Given the description of an element on the screen output the (x, y) to click on. 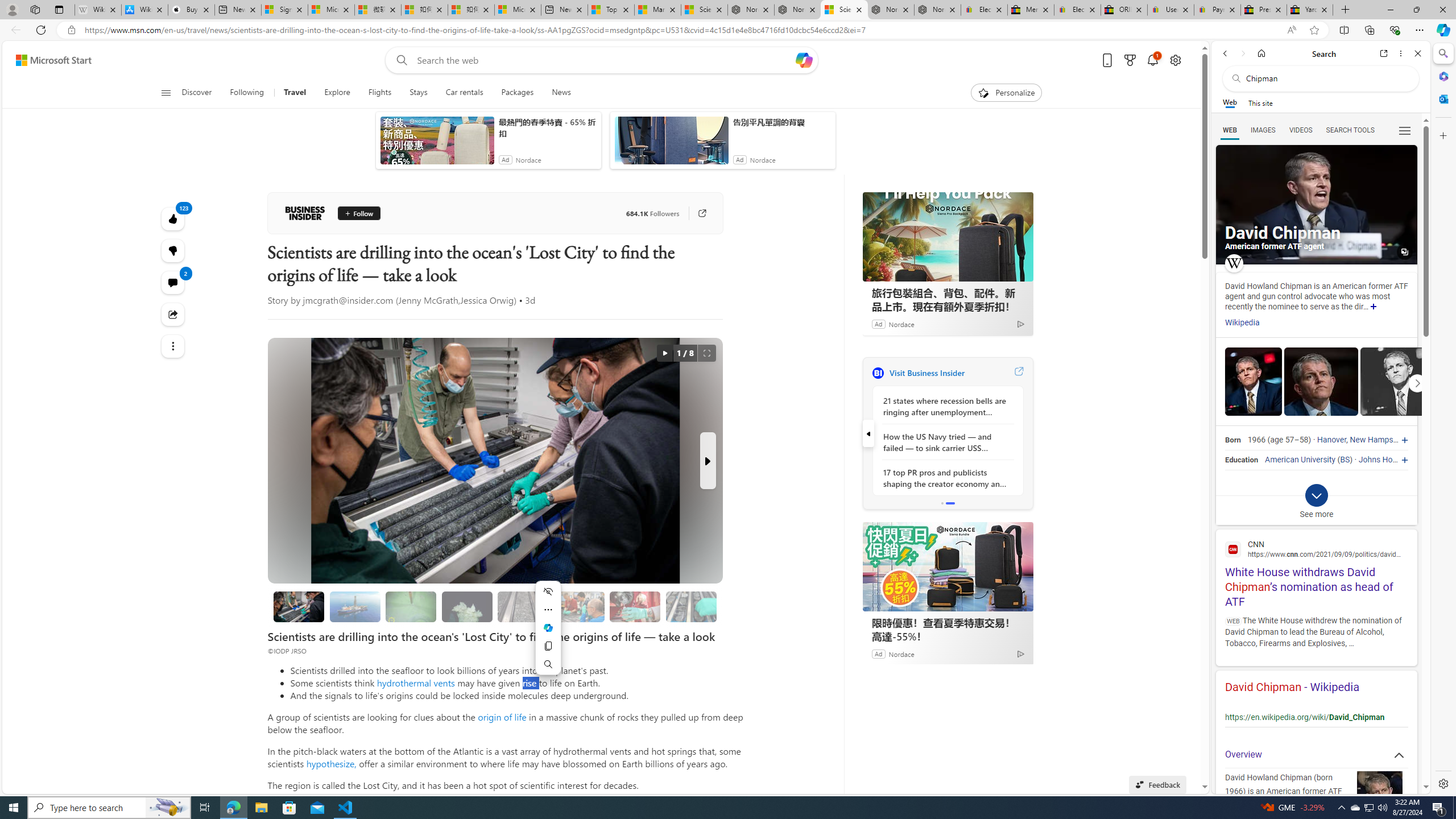
Car rentals (464, 92)
The Lost City could hold clues to the origin of life. (466, 606)
Johns Hopkins University (1403, 460)
To get missing image descriptions, open the context menu. (983, 92)
Stays (418, 92)
Buy iPad - Apple (191, 9)
Forward (1242, 53)
Travel (295, 92)
Class: button-glyph (165, 92)
Actions for this site (1390, 708)
Yard, Garden & Outdoor Living (1309, 9)
